Given the description of an element on the screen output the (x, y) to click on. 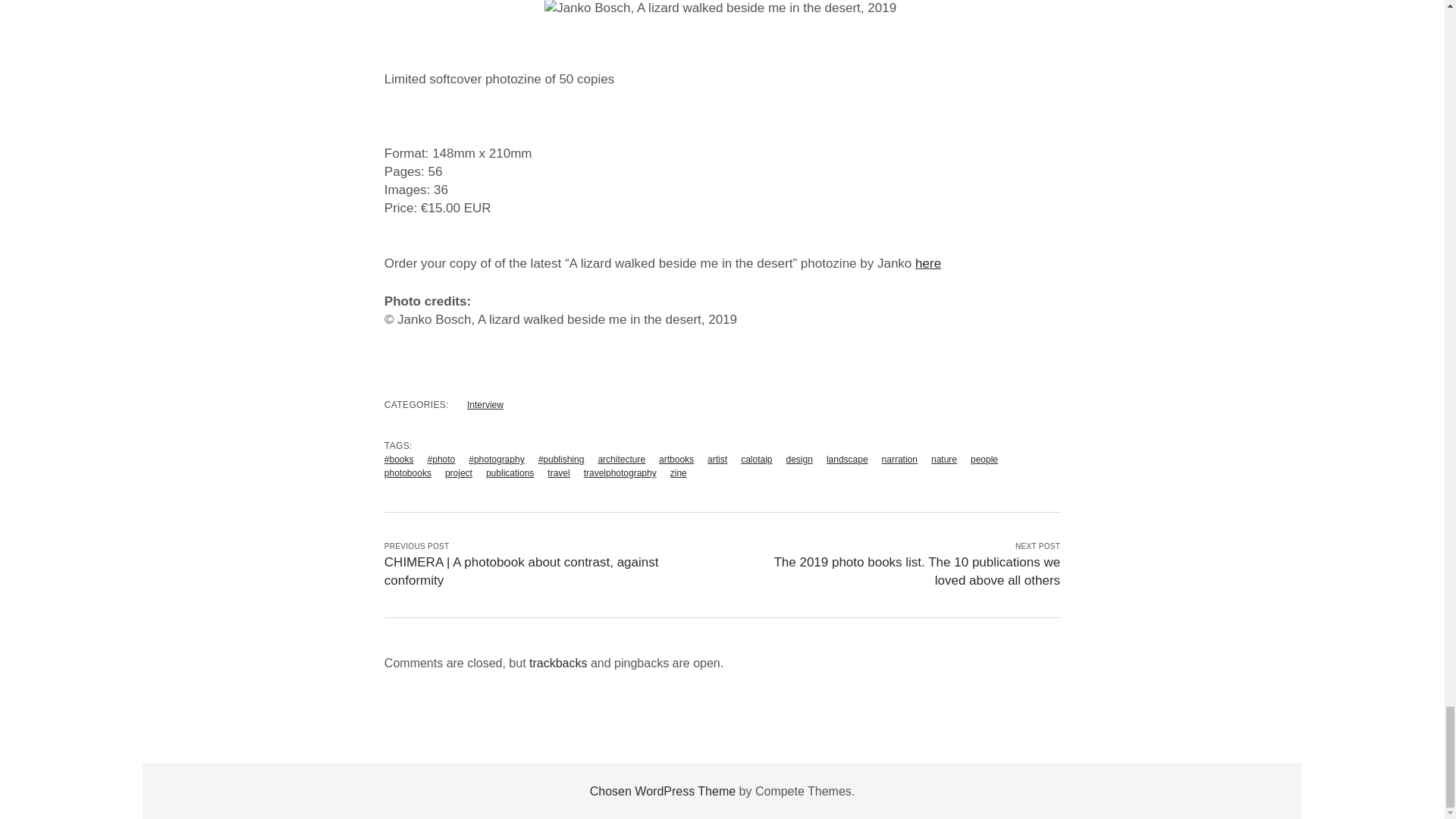
View all posts tagged landscape (847, 459)
zine (678, 472)
artbooks (676, 459)
publications (510, 472)
here (927, 263)
View all posts in Interview (485, 404)
project (458, 472)
travelphotography (619, 472)
architecture (620, 459)
design (799, 459)
landscape (847, 459)
photobooks (407, 472)
travel (558, 472)
trackbacks (557, 662)
Chosen WordPress Theme (662, 790)
